Given the description of an element on the screen output the (x, y) to click on. 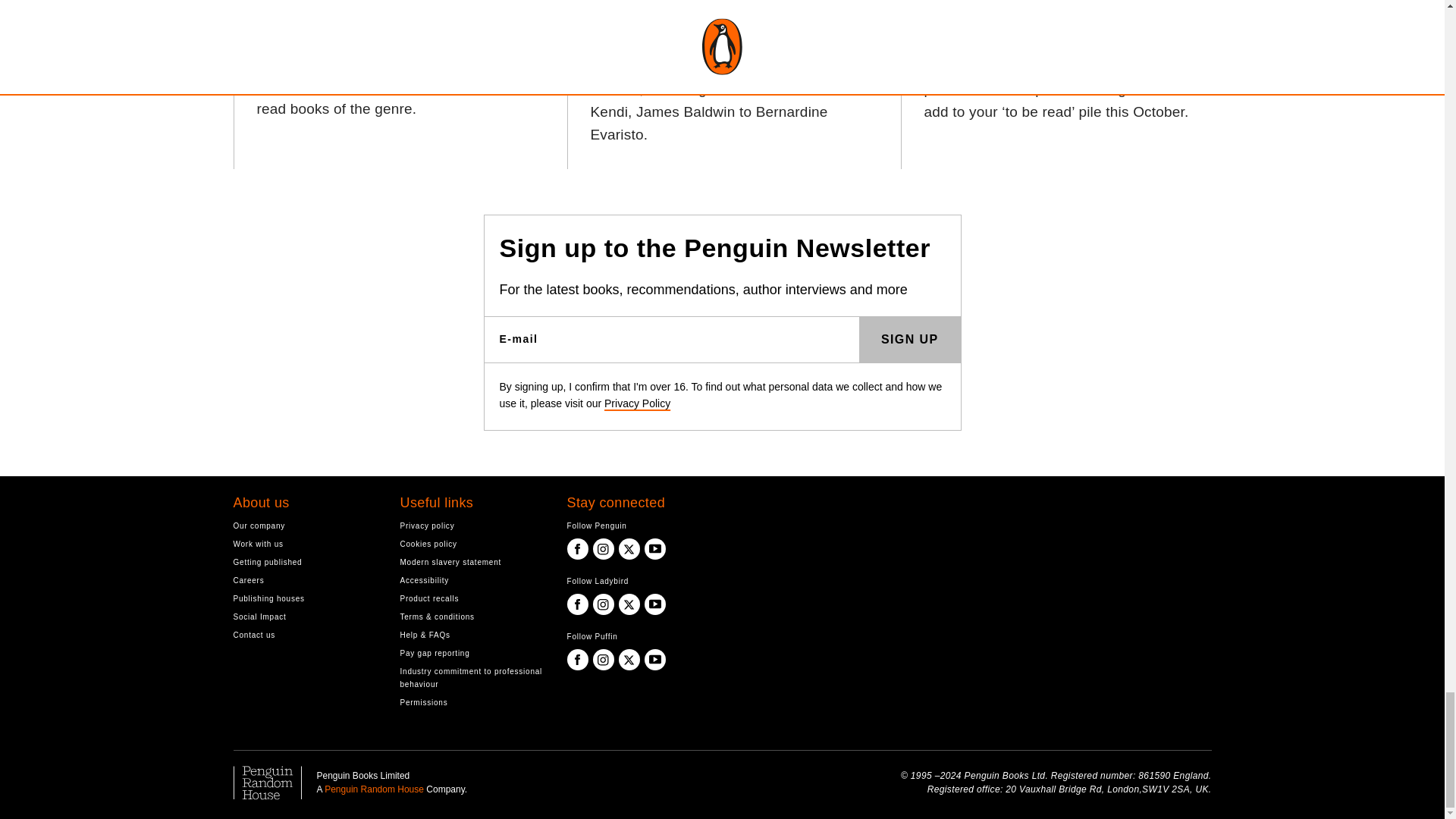
SIGN UP (909, 339)
Privacy Policy (636, 403)
